Given the description of an element on the screen output the (x, y) to click on. 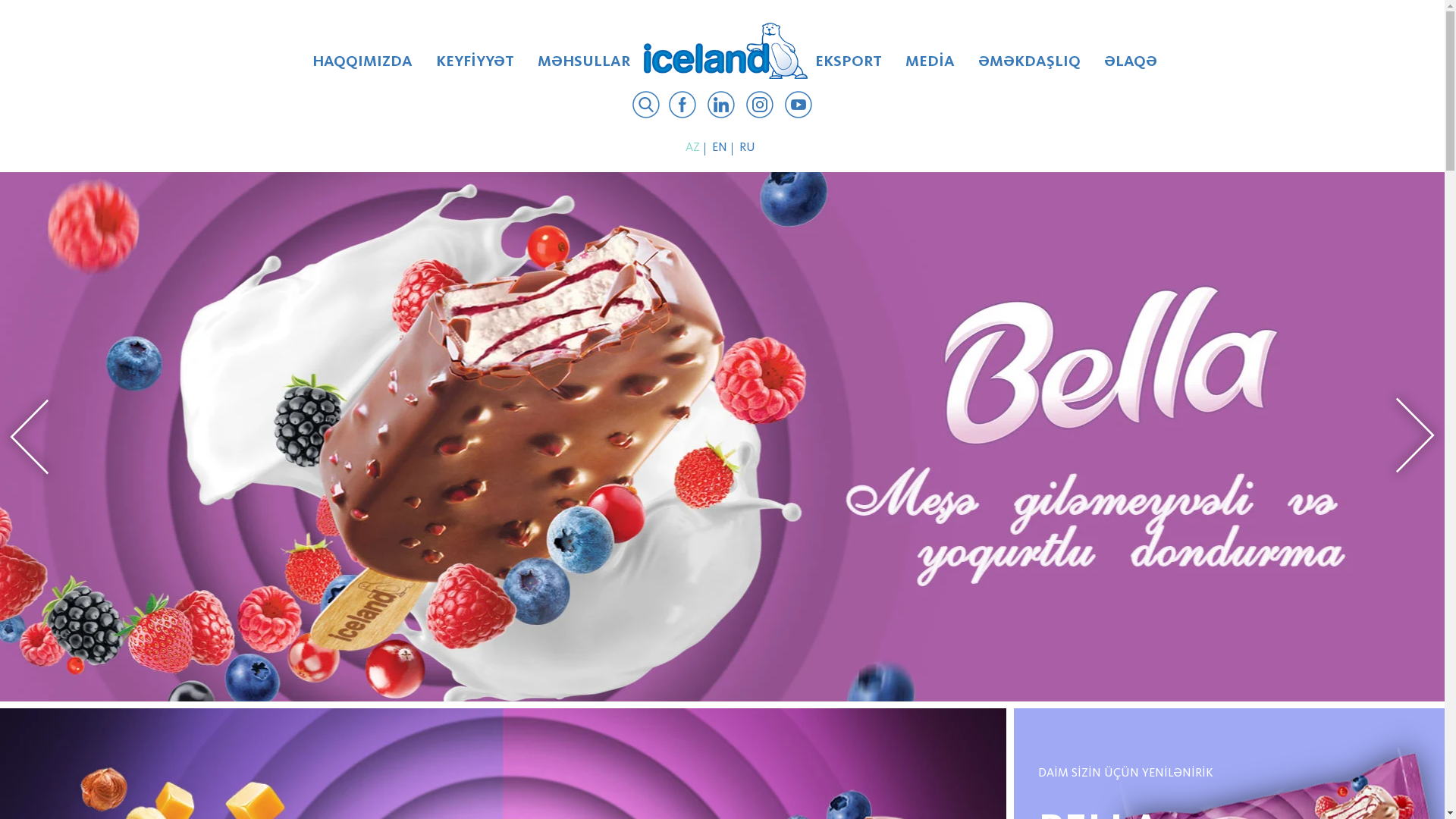
EN Element type: text (721, 147)
EKSPORT Element type: text (847, 67)
HAQQIMIZDA Element type: text (362, 67)
Instagram Element type: hover (759, 106)
Youtube Element type: hover (798, 106)
Facebook Element type: hover (682, 106)
Iceland Element type: hover (725, 50)
RU Element type: text (748, 147)
Linkedin Element type: hover (720, 106)
